Given the description of an element on the screen output the (x, y) to click on. 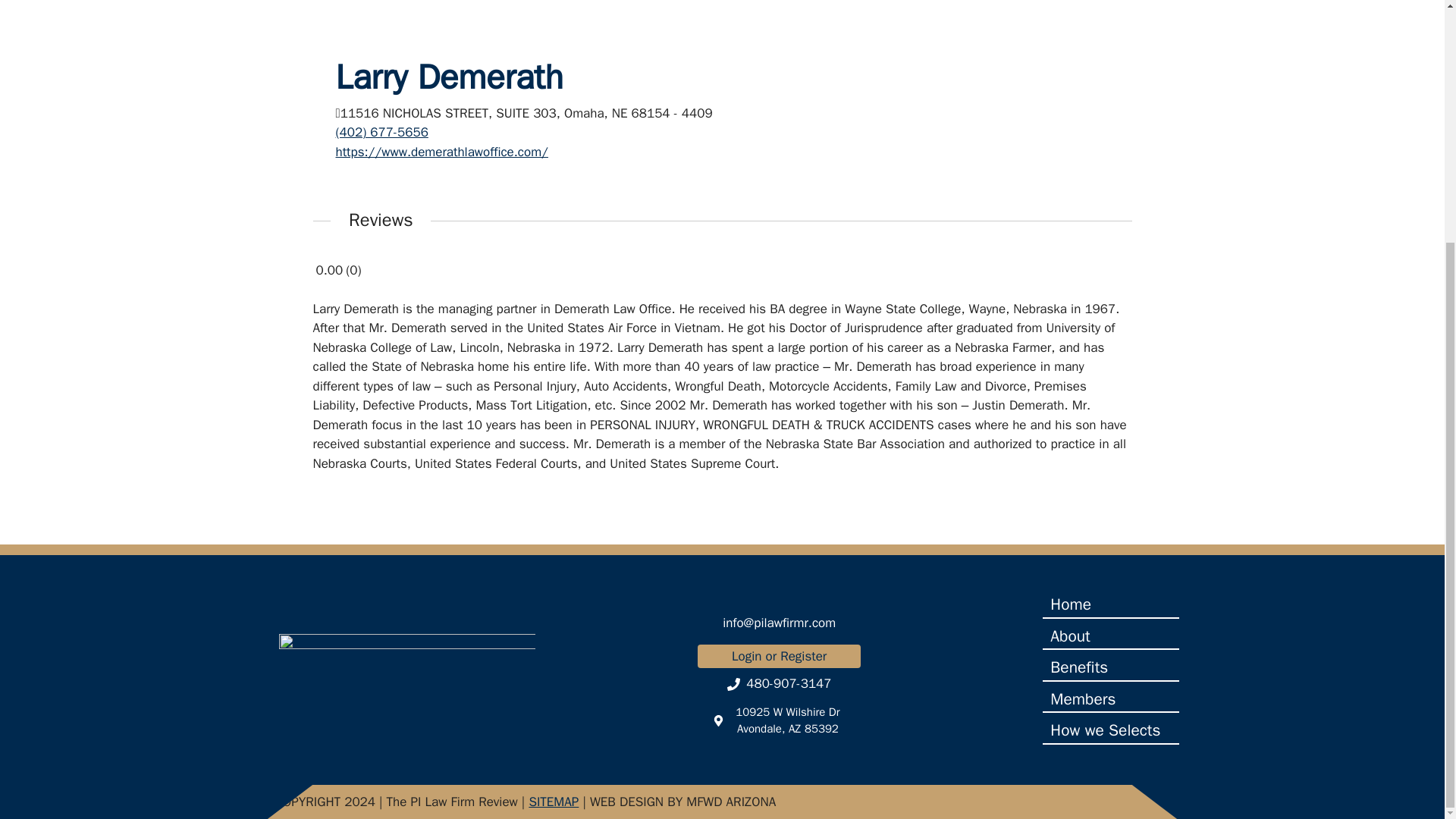
Members (1110, 700)
About (1110, 637)
Benefits (1110, 668)
480-907-3147 (778, 684)
Home (1110, 605)
Login or Register (778, 656)
SITEMAP (553, 801)
How we Selects (1110, 731)
